Given the description of an element on the screen output the (x, y) to click on. 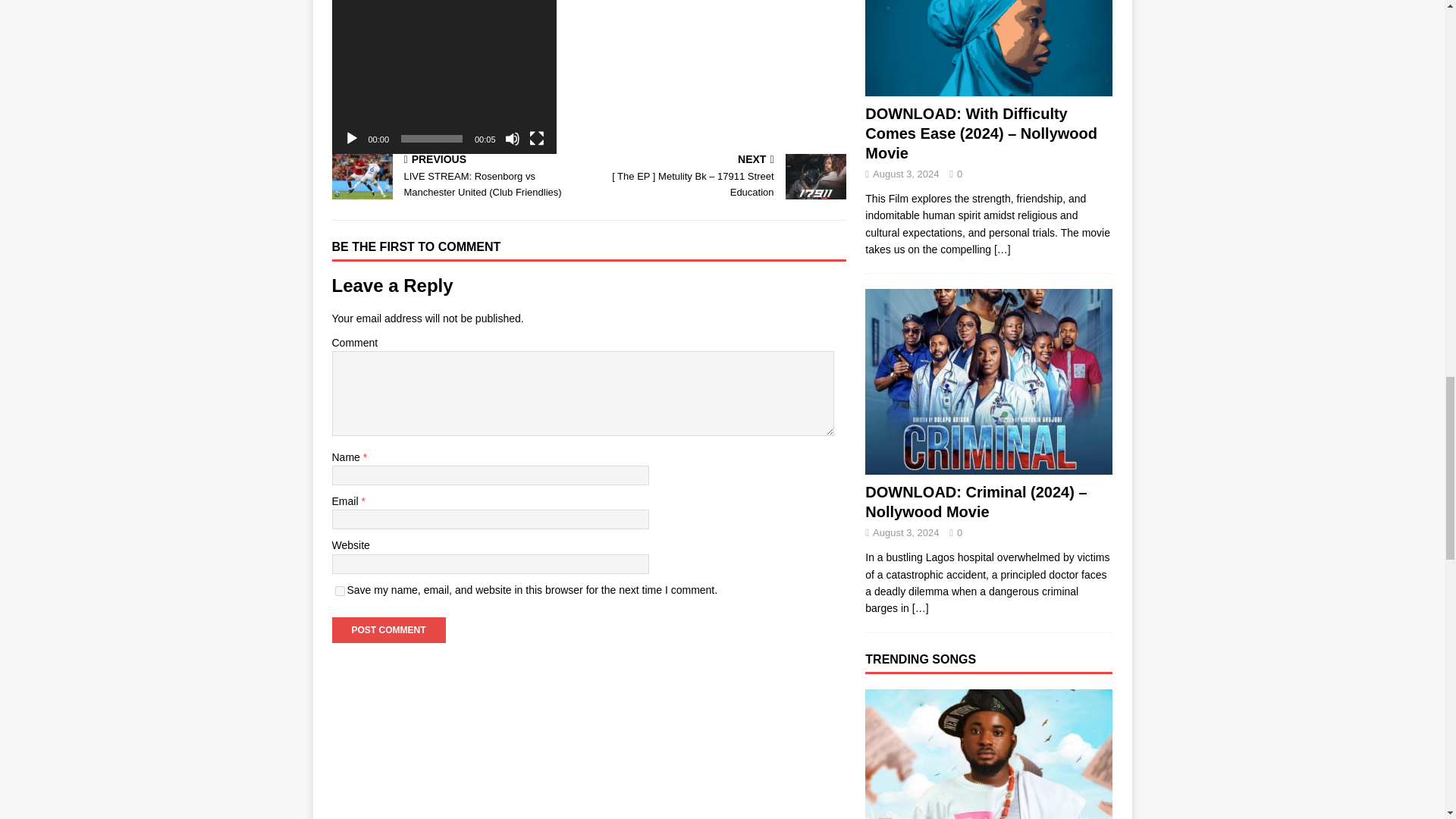
Play (351, 138)
Mute (512, 138)
Post Comment (388, 629)
Post Comment (388, 629)
yes (339, 591)
Fullscreen (536, 138)
